Given the description of an element on the screen output the (x, y) to click on. 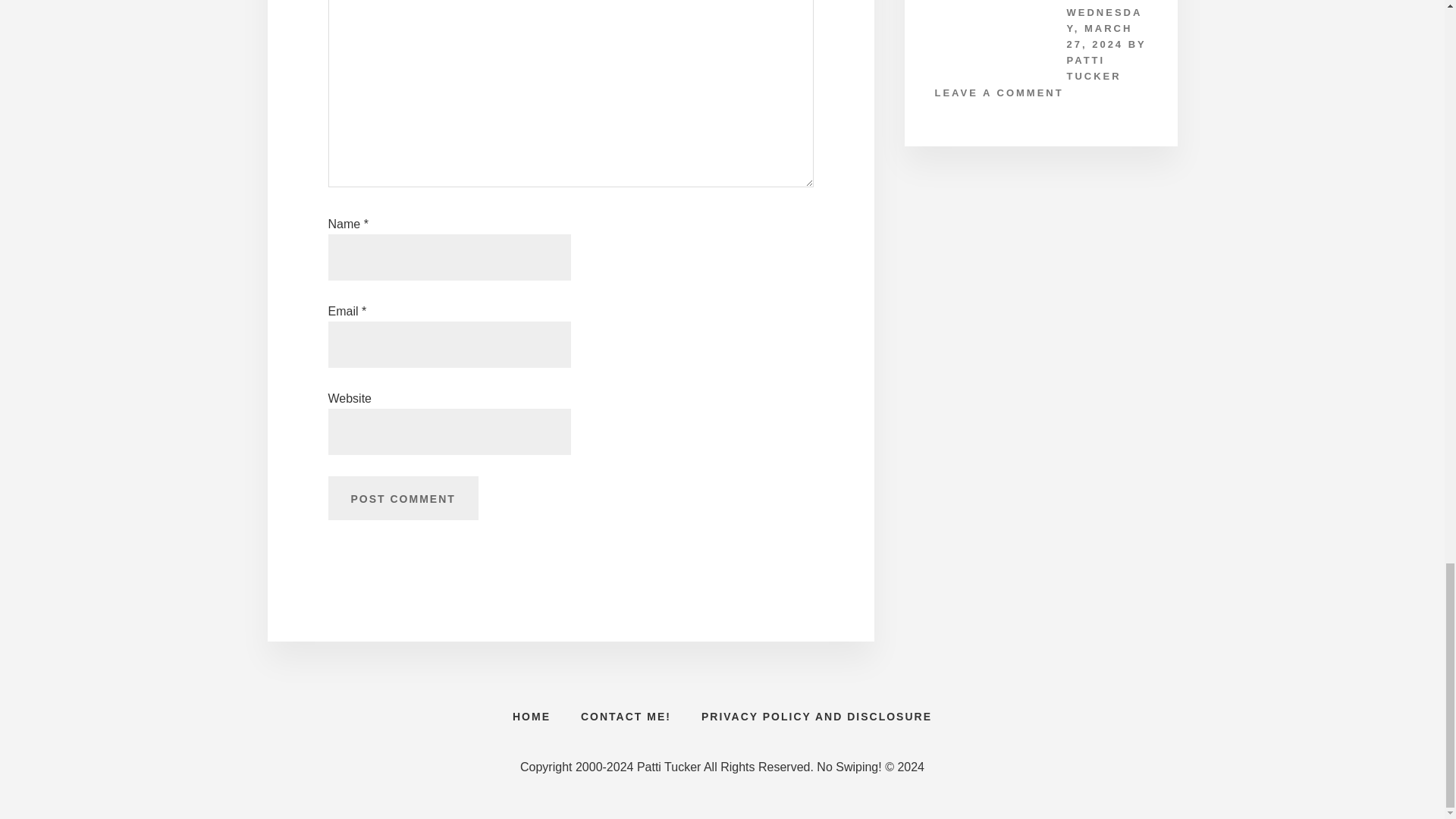
Post Comment (402, 497)
LEAVE A COMMENT (998, 92)
PATTI TUCKER (1093, 67)
Post Comment (402, 497)
HOME (531, 716)
